Given the description of an element on the screen output the (x, y) to click on. 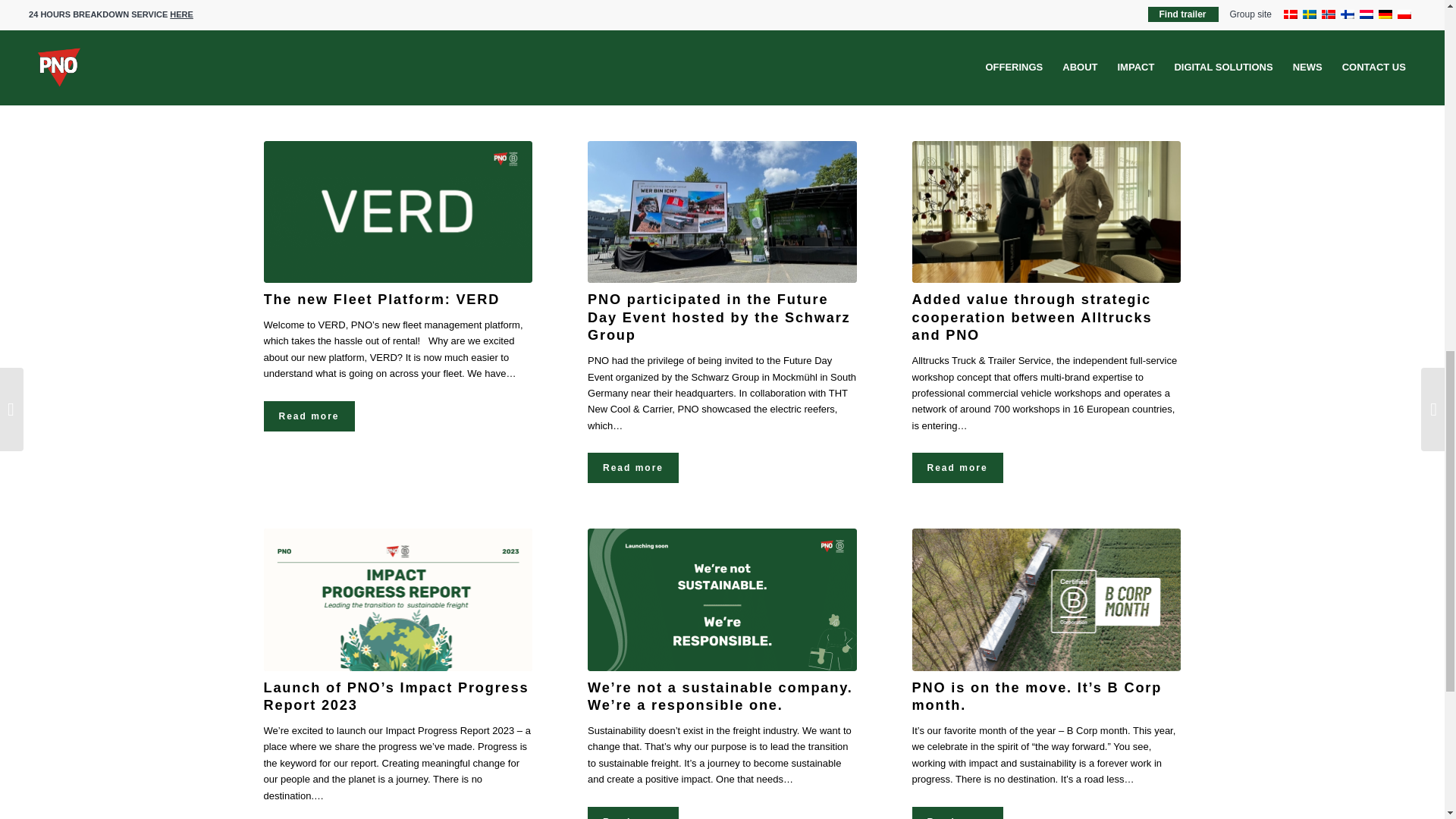
The new Fleet Platform: VERD (381, 299)
The new Fleet Platform: VERD (397, 211)
